Given the description of an element on the screen output the (x, y) to click on. 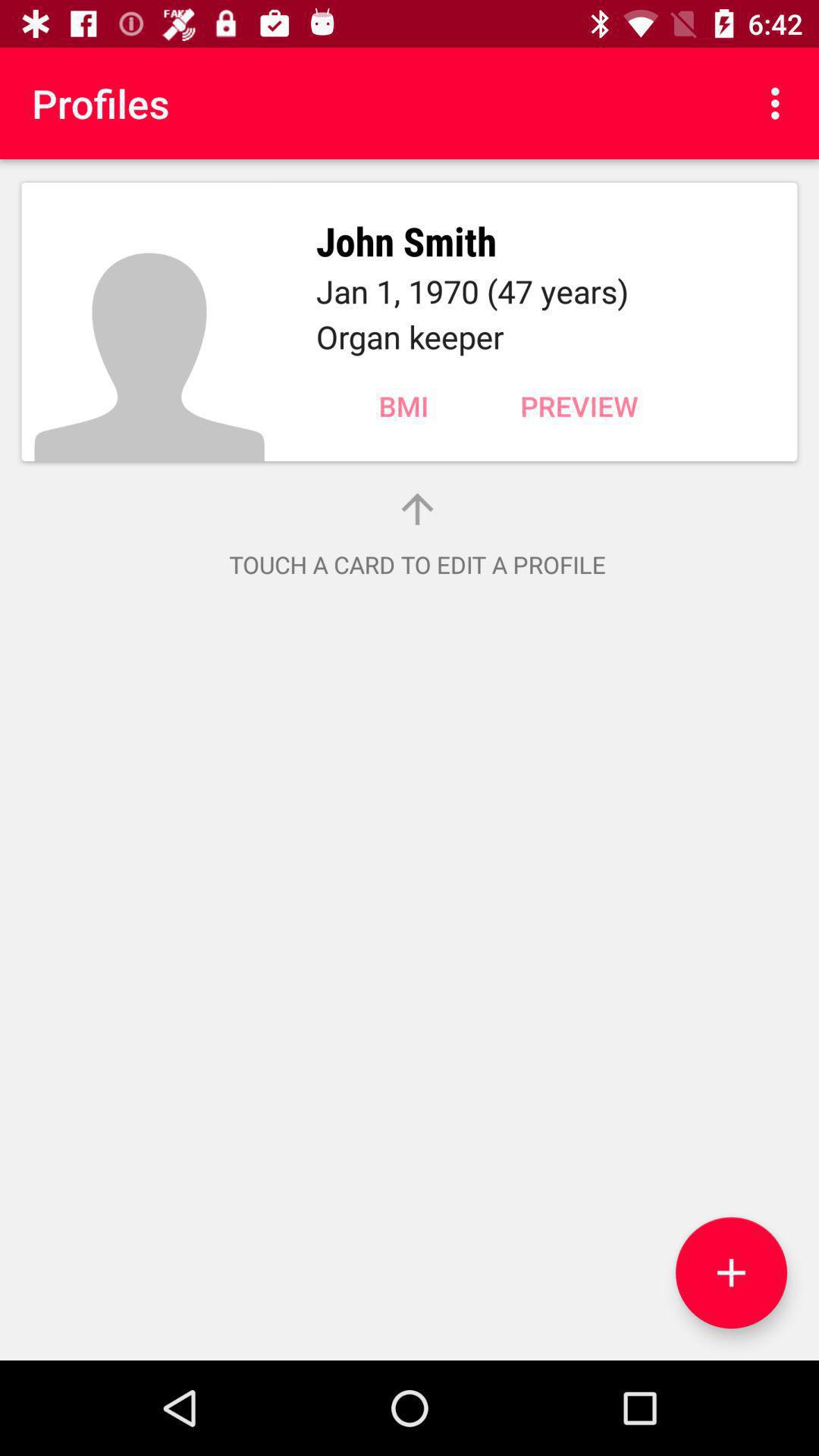
click preview icon (578, 405)
